Given the description of an element on the screen output the (x, y) to click on. 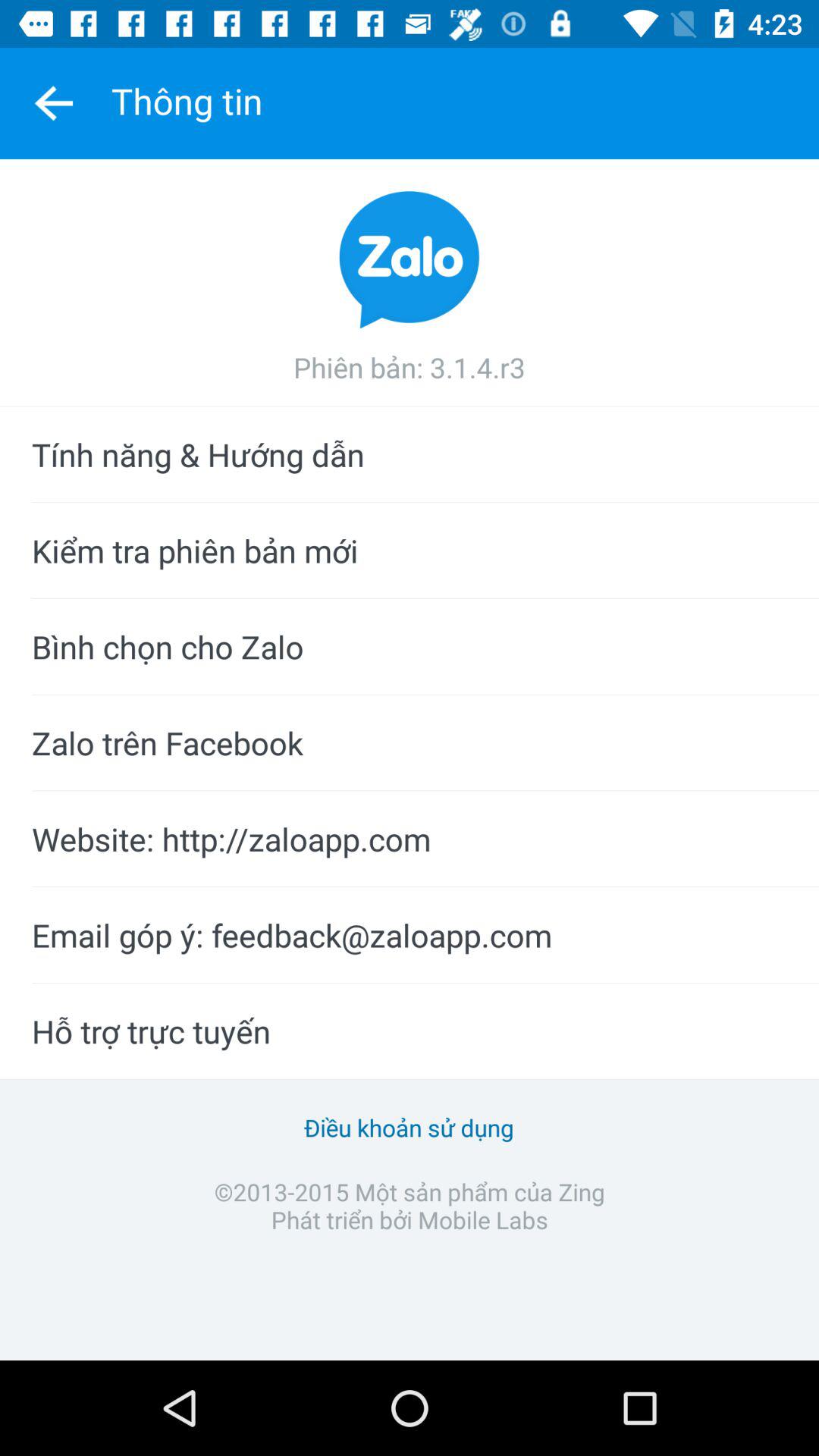
flip until the website http zaloapp item (409, 838)
